Given the description of an element on the screen output the (x, y) to click on. 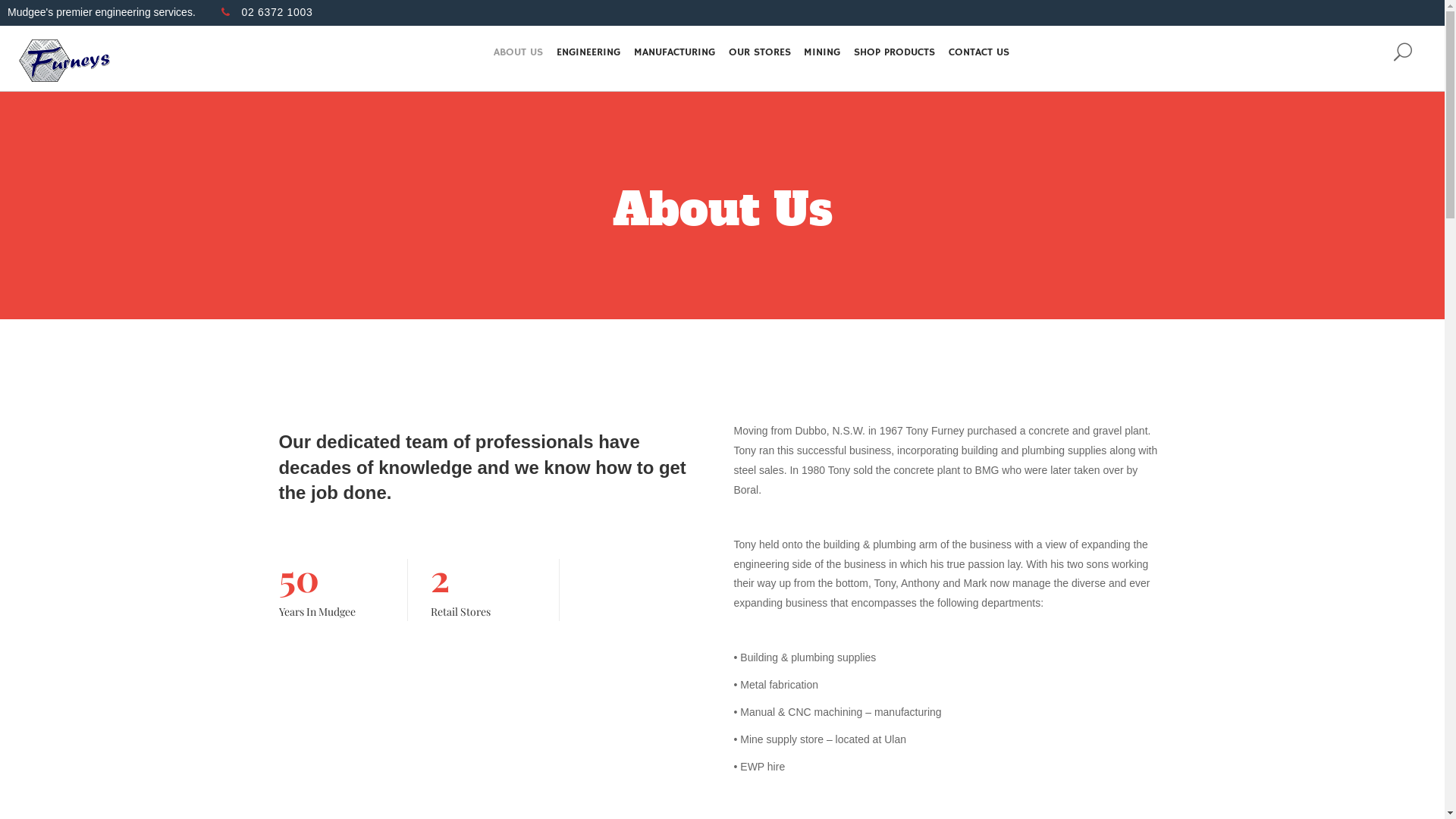
MANUFACTURING Element type: text (674, 52)
SHOP PRODUCTS Element type: text (894, 52)
ABOUT US Element type: text (517, 52)
CONTACT US Element type: text (978, 52)
02 6372 1003 Element type: text (267, 11)
MINING Element type: text (821, 52)
OUR STORES Element type: text (759, 52)
ENGINEERING Element type: text (588, 52)
